Given the description of an element on the screen output the (x, y) to click on. 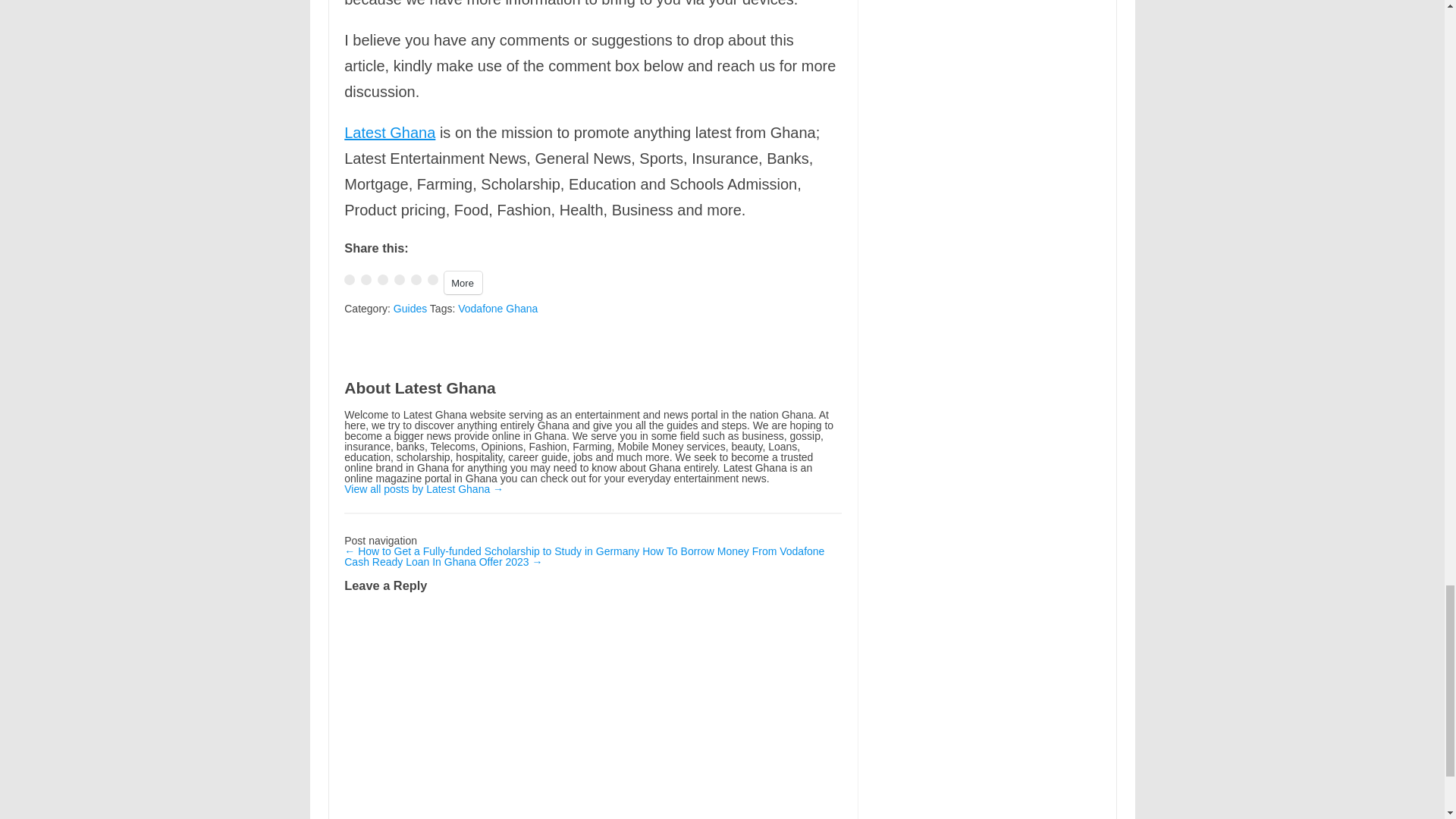
Click to share on Reddit (433, 279)
Click to share on Pinterest (416, 279)
More (462, 282)
Comment Form (592, 711)
Vodafone Ghana (497, 308)
Click to share on Twitter (366, 279)
Click to share on Facebook (349, 279)
Guides (409, 308)
Latest Ghana (389, 132)
Click to share on Telegram (399, 279)
